Given the description of an element on the screen output the (x, y) to click on. 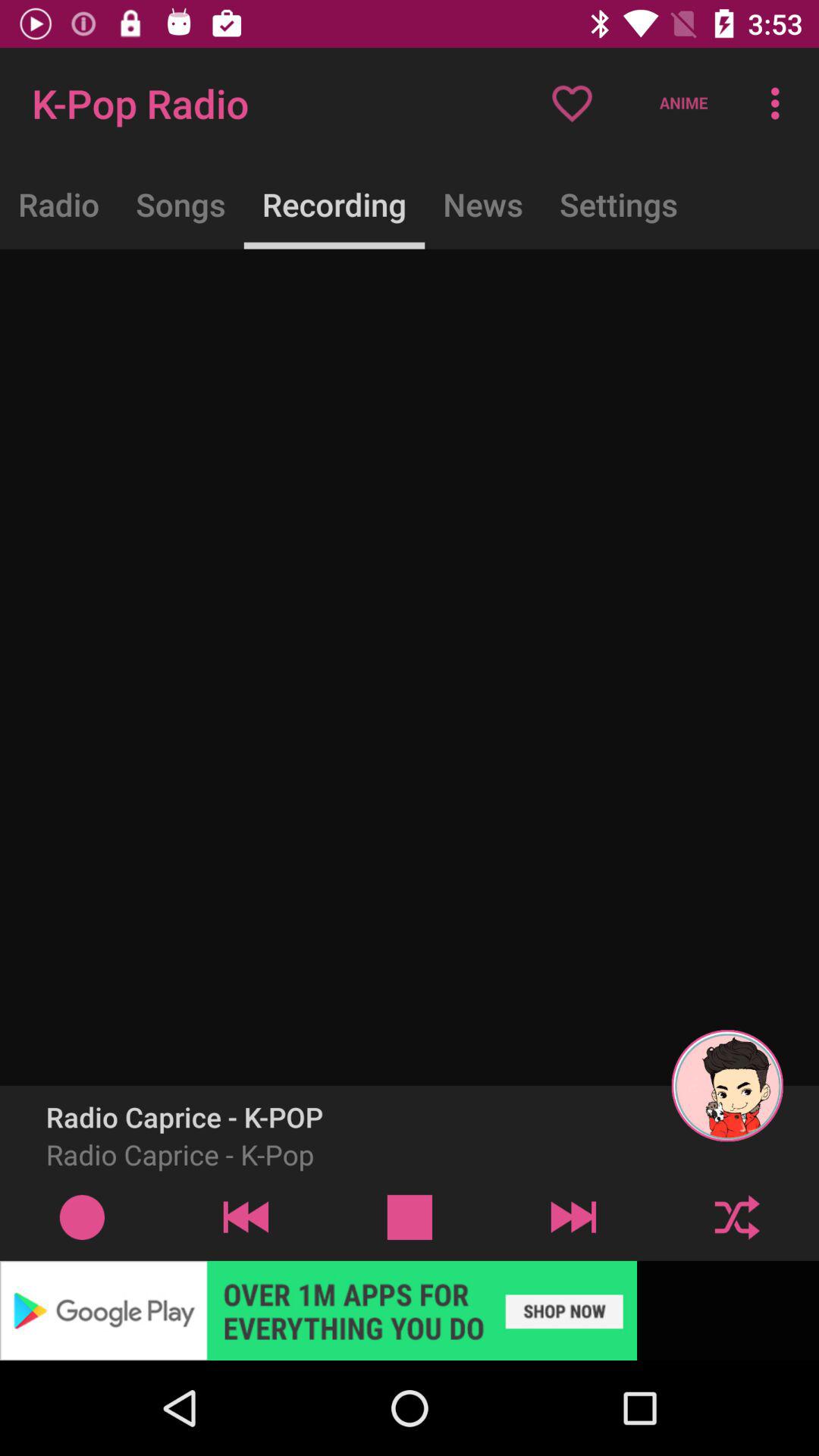
pause option (409, 1216)
